Given the description of an element on the screen output the (x, y) to click on. 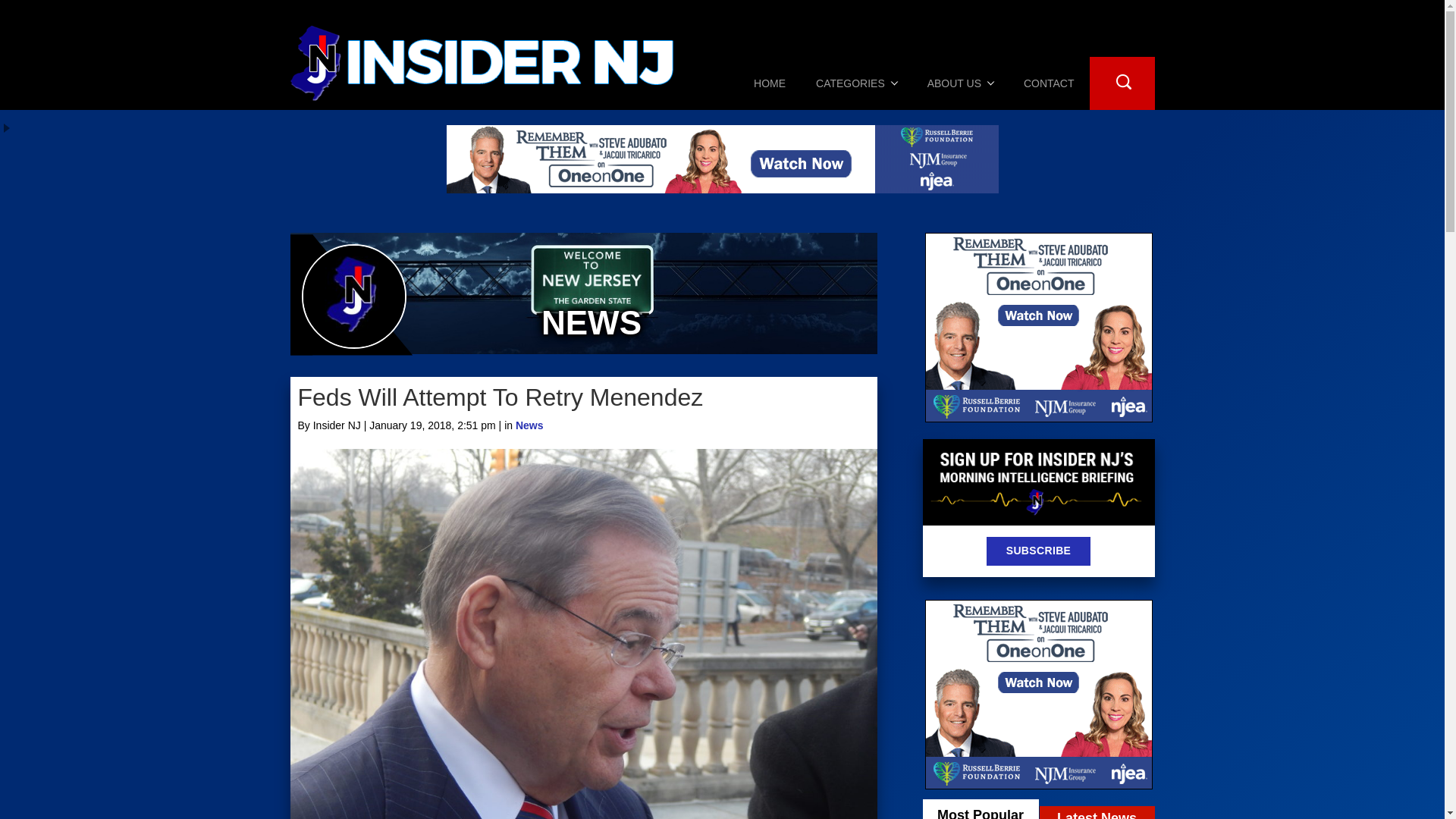
CONTACT (1049, 82)
Home (769, 82)
News (529, 425)
HOME (769, 82)
About Us (960, 82)
Contact (1049, 82)
CATEGORIES (856, 82)
ABOUT US (960, 82)
Categories (856, 82)
